Given the description of an element on the screen output the (x, y) to click on. 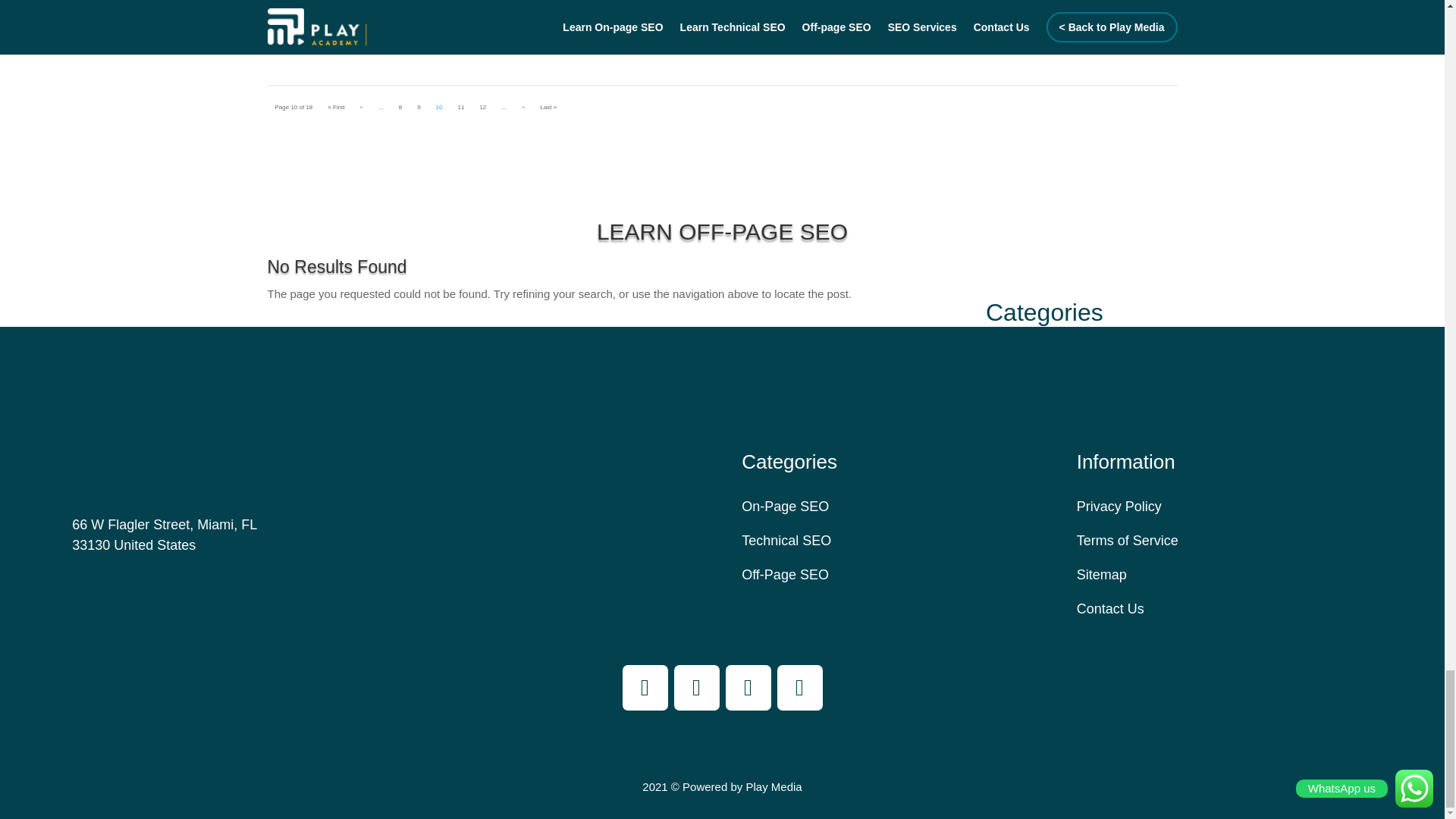
Follow on Instagram (695, 687)
Page 12 (482, 107)
Page 8 (400, 107)
Follow on Twitter (747, 687)
Follow on LinkedIn (799, 687)
Page 11 (459, 107)
Page 9 (418, 107)
Follow on Facebook (643, 687)
PM-Academy-Logo (100, 427)
